Given the description of an element on the screen output the (x, y) to click on. 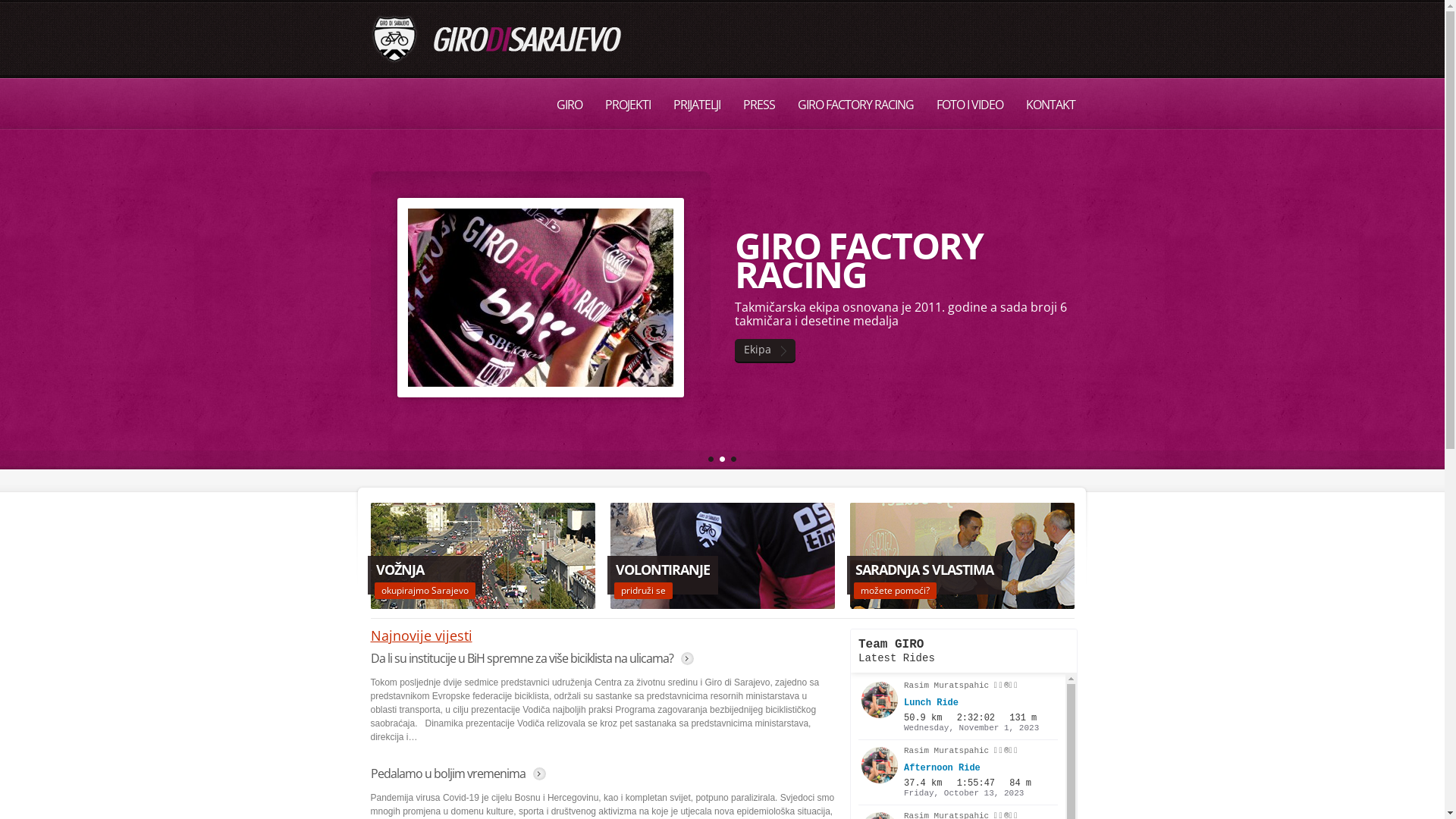
GIRO Element type: text (568, 103)
KONTAKT Element type: text (1050, 103)
Pedalamo u boljim vremenima Element type: text (447, 773)
2 Element type: text (721, 458)
PRESS Element type: text (758, 103)
PROJEKTI Element type: text (627, 103)
PRIJATELJI Element type: text (696, 103)
3 Element type: text (733, 458)
1 Element type: text (710, 458)
FOTO I VIDEO Element type: text (969, 103)
Najnovije vijesti Element type: text (420, 635)
GIRO FACTORY RACING Element type: text (854, 103)
